Given the description of an element on the screen output the (x, y) to click on. 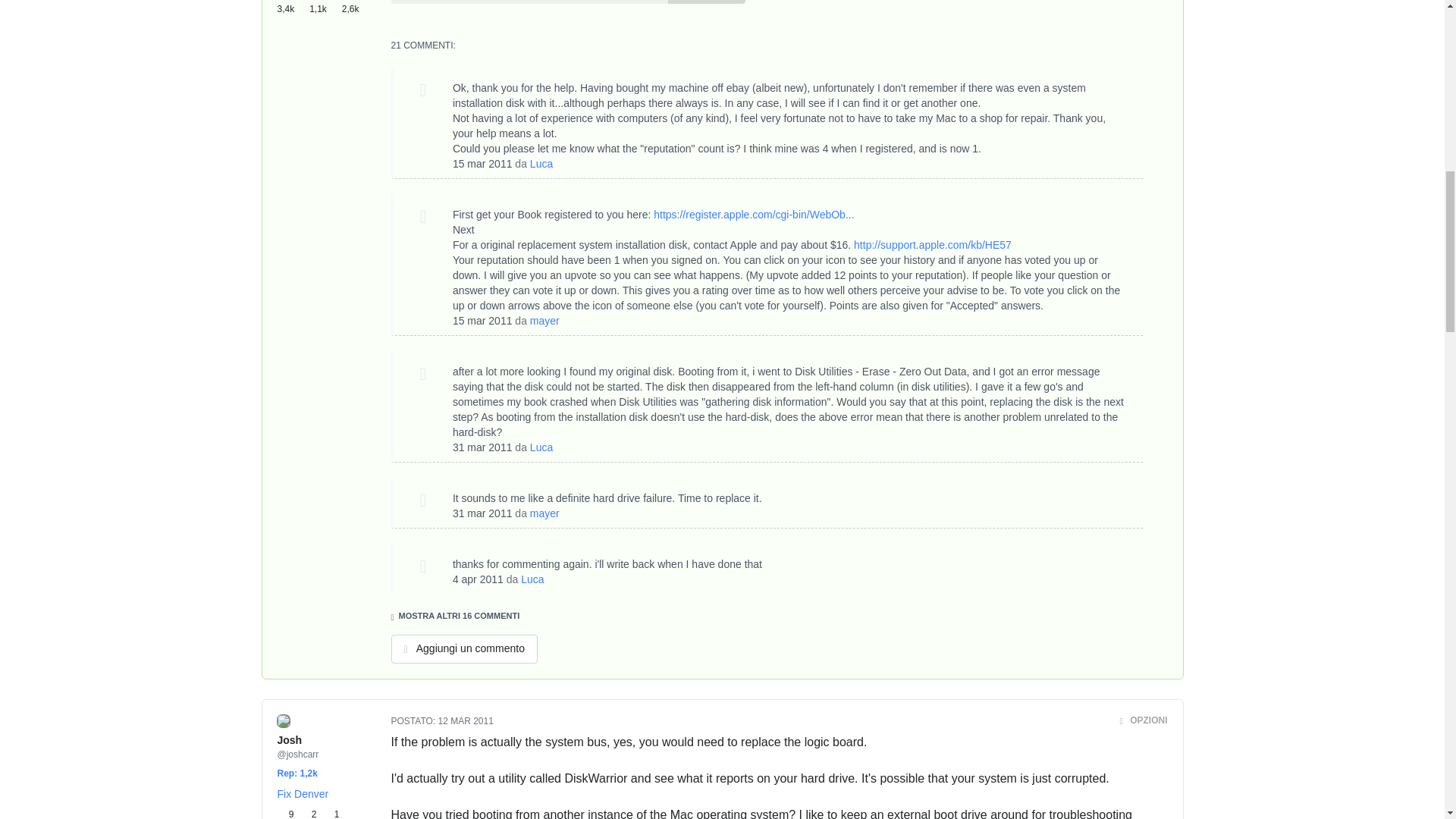
Tue, 15 Mar 2011 16:14:41 -0700 (482, 163)
2638 Gold distintivi (355, 7)
1131 Argento distintivi (325, 7)
3494 Bronzo distintivi (294, 7)
Thu, 31 Mar 2011 13:36:50 -0700 (482, 447)
Sat, 12 Mar 2011 10:28:59 -0700 (465, 720)
1 Gold distintivi (331, 813)
Tue, 15 Mar 2011 16:27:31 -0700 (482, 320)
2 Argento distintivi (311, 813)
Thu, 31 Mar 2011 14:47:42 -0700 (482, 512)
